Given the description of an element on the screen output the (x, y) to click on. 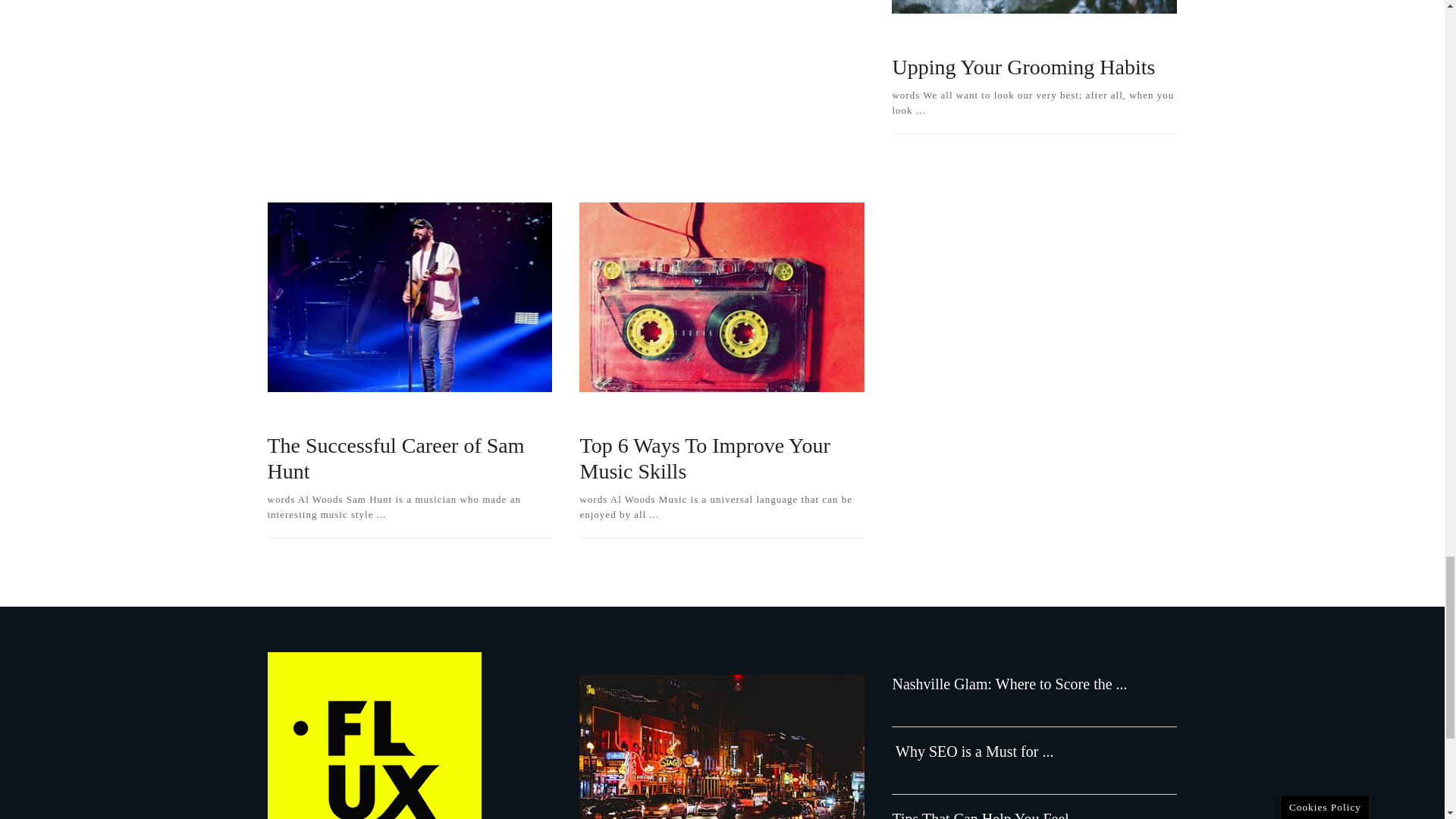
View all posts in 7 (913, 36)
View all posts in 1600 (984, 36)
